Given the description of an element on the screen output the (x, y) to click on. 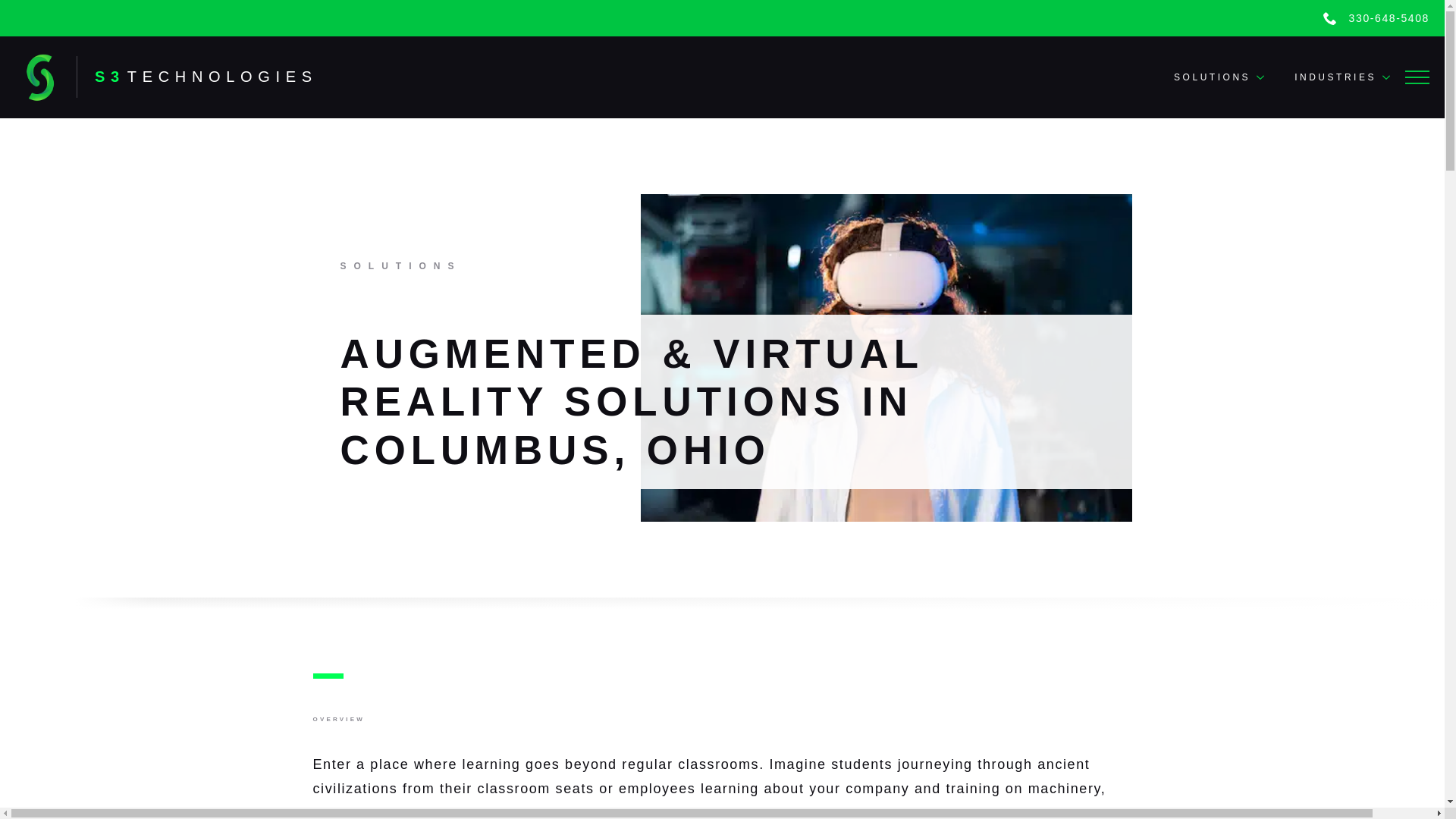
SOLUTIONS (1204, 77)
INDUSTRIES (197, 76)
330-648-5408 (1327, 77)
